Given the description of an element on the screen output the (x, y) to click on. 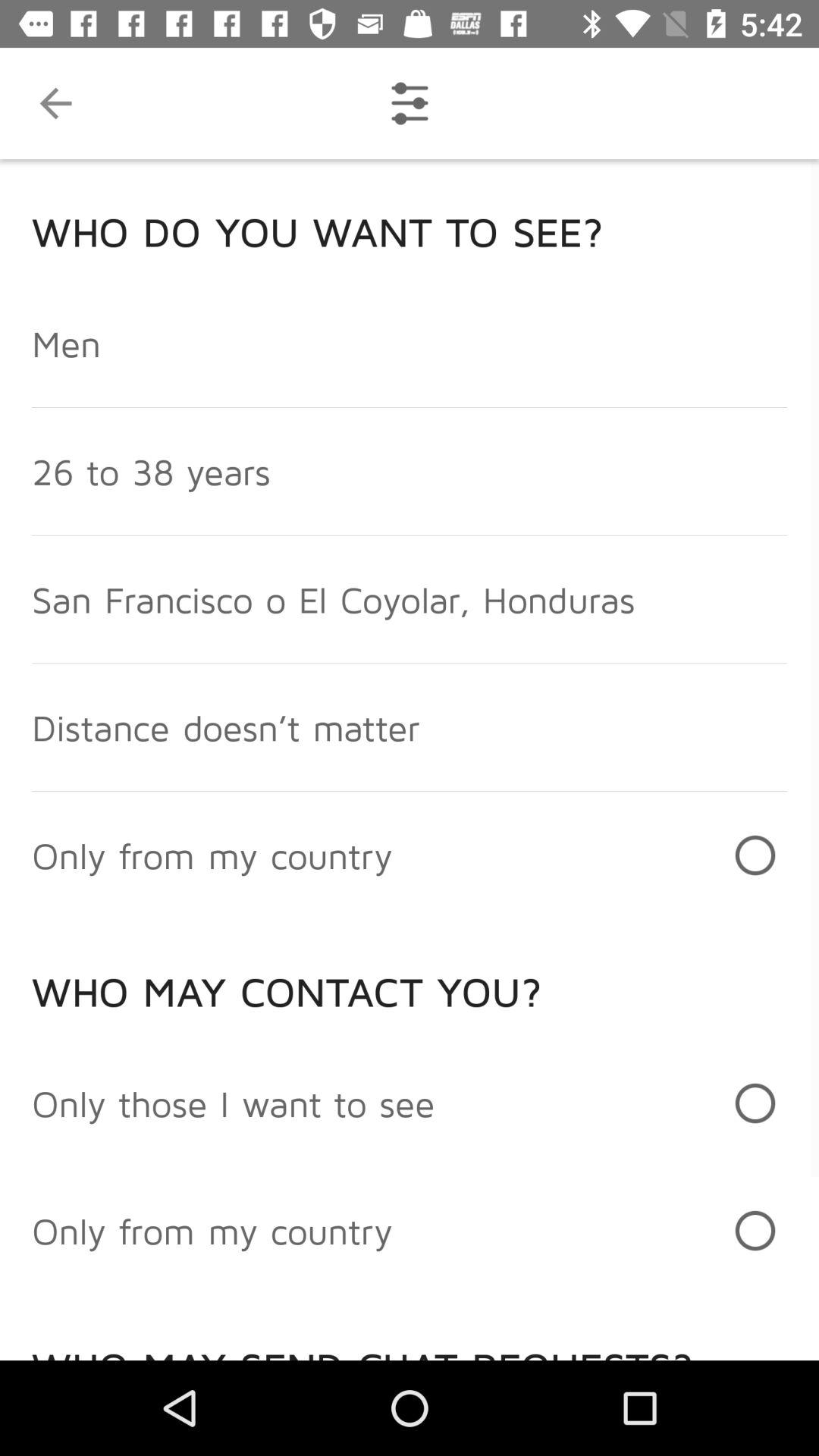
click the icon above only from my item (233, 1102)
